Given the description of an element on the screen output the (x, y) to click on. 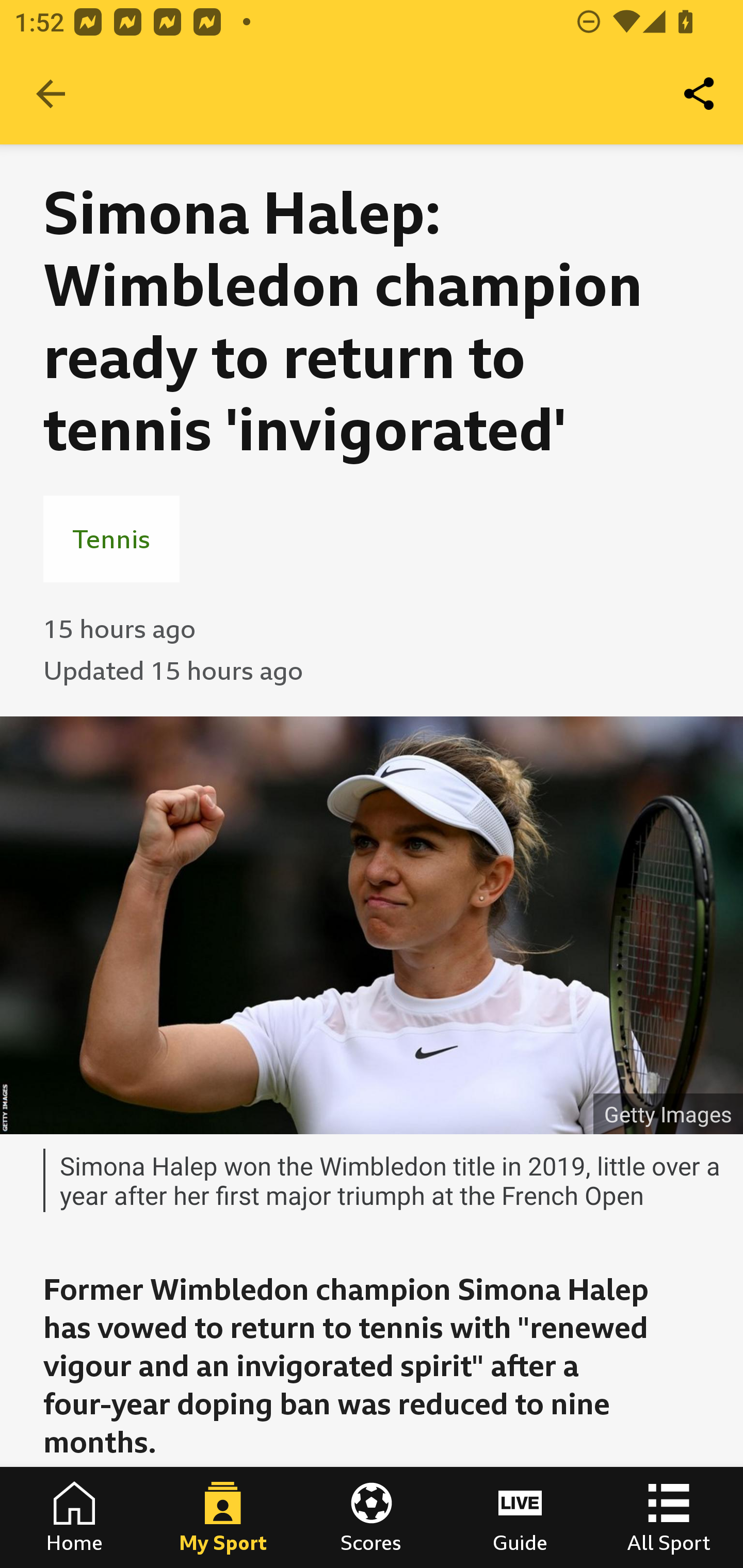
Navigate up (50, 93)
Share (699, 93)
Tennis (111, 538)
Home (74, 1517)
Scores (371, 1517)
Guide (519, 1517)
All Sport (668, 1517)
